Given the description of an element on the screen output the (x, y) to click on. 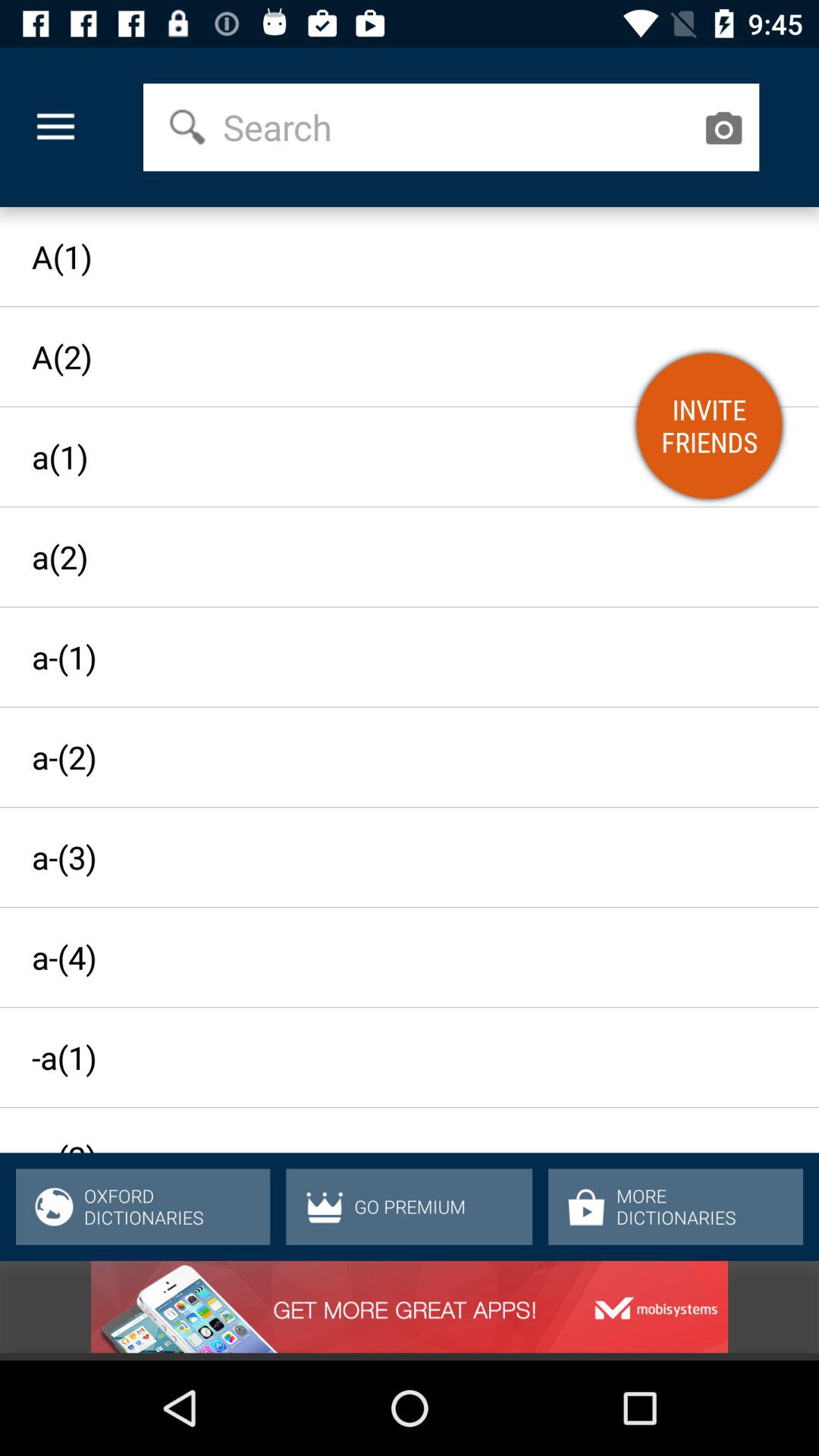
turn off invite friends icon (708, 425)
